Given the description of an element on the screen output the (x, y) to click on. 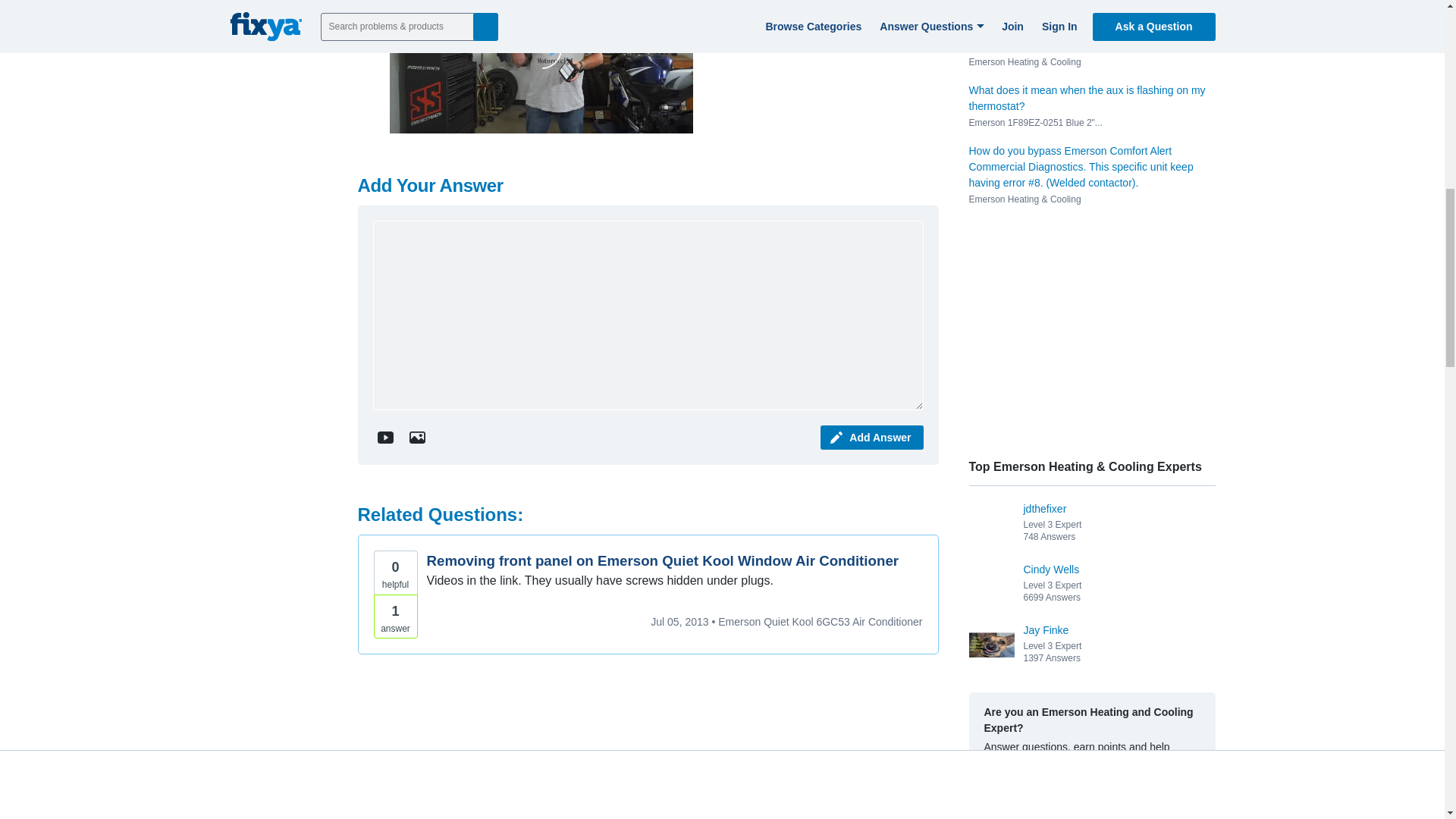
Add Answer (872, 437)
